Given the description of an element on the screen output the (x, y) to click on. 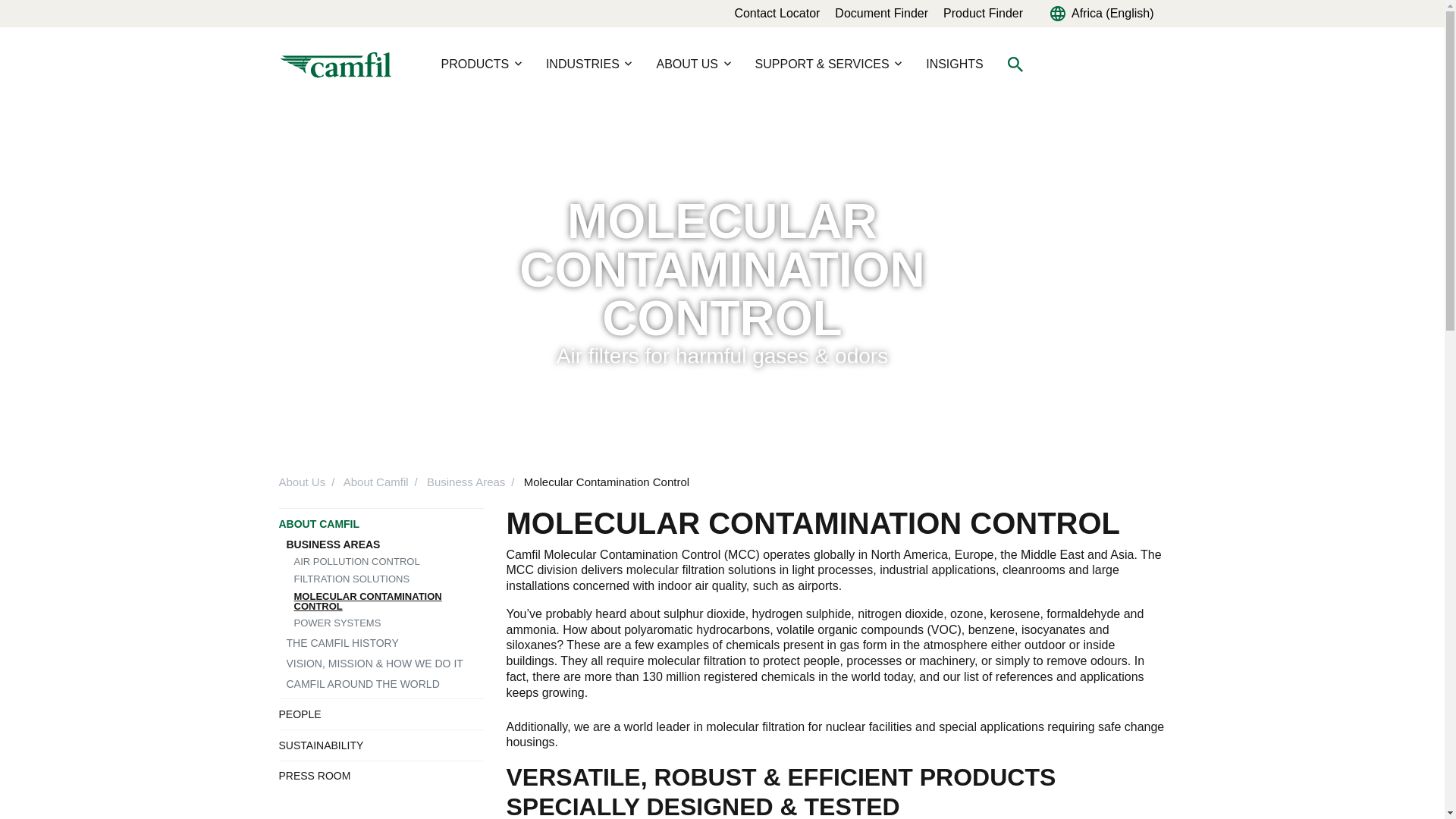
Contact Locator (776, 12)
Product Finder (983, 12)
Document Finder (881, 12)
